Given the description of an element on the screen output the (x, y) to click on. 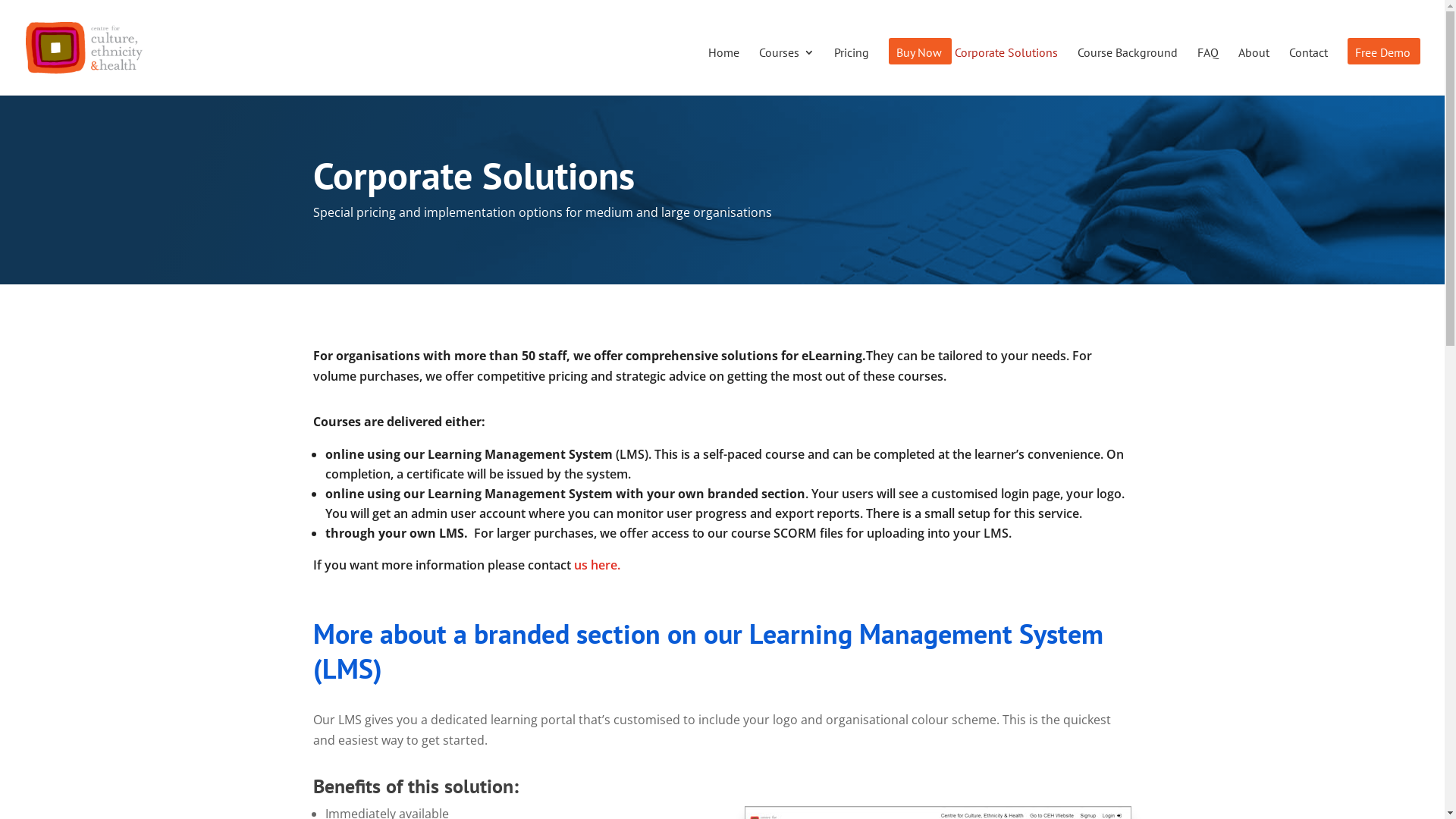
Pricing Element type: text (851, 71)
Free Demo Element type: text (1382, 71)
Buy Now Element type: text (918, 71)
Corporate Solutions Element type: text (1005, 71)
Courses Element type: text (786, 71)
Contact Element type: text (1308, 71)
us here. Element type: text (596, 564)
FAQ Element type: text (1207, 71)
Home Element type: text (723, 71)
Course Background Element type: text (1127, 71)
About Element type: text (1253, 71)
